Given the description of an element on the screen output the (x, y) to click on. 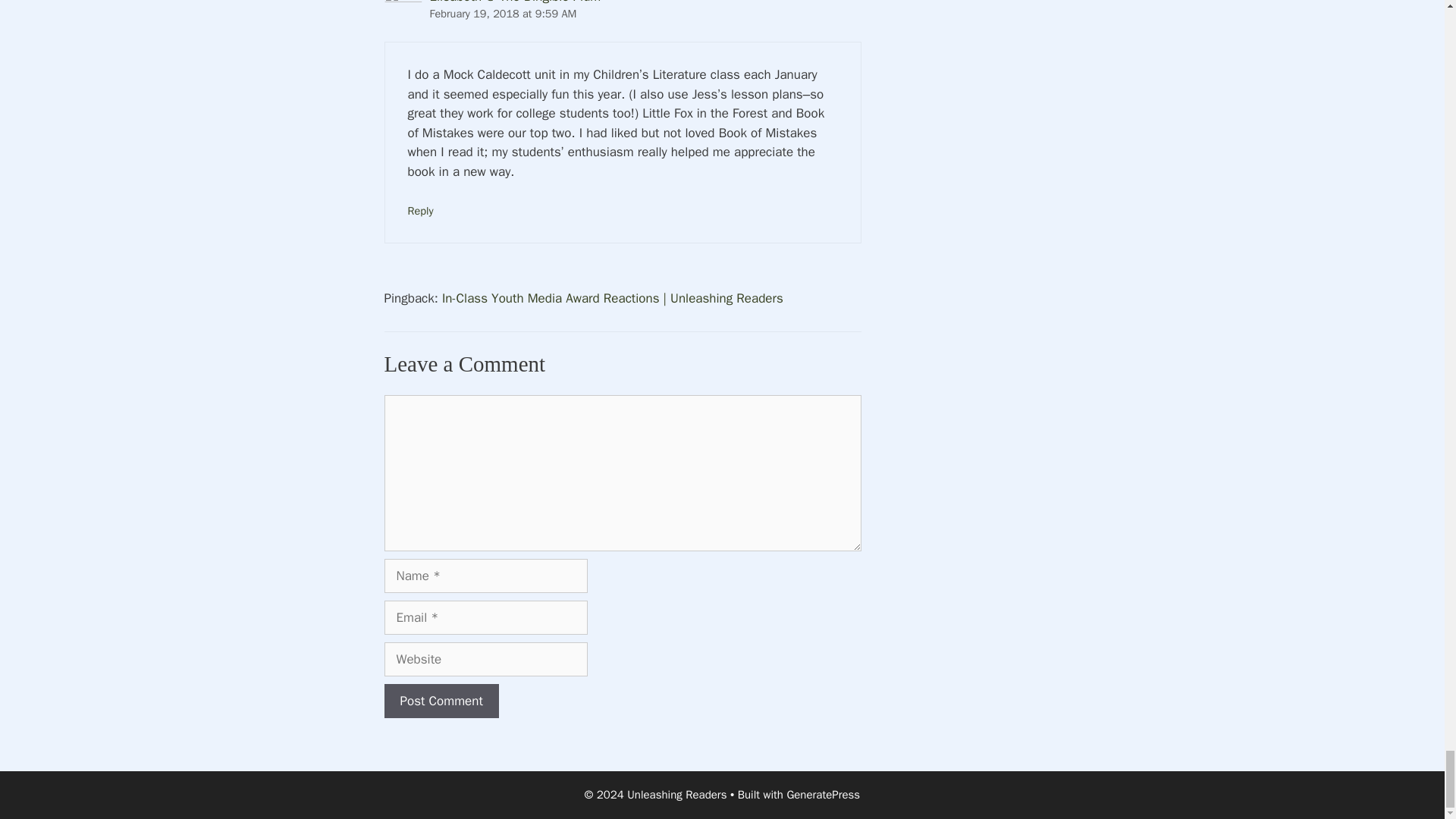
Post Comment (440, 700)
